Given the description of an element on the screen output the (x, y) to click on. 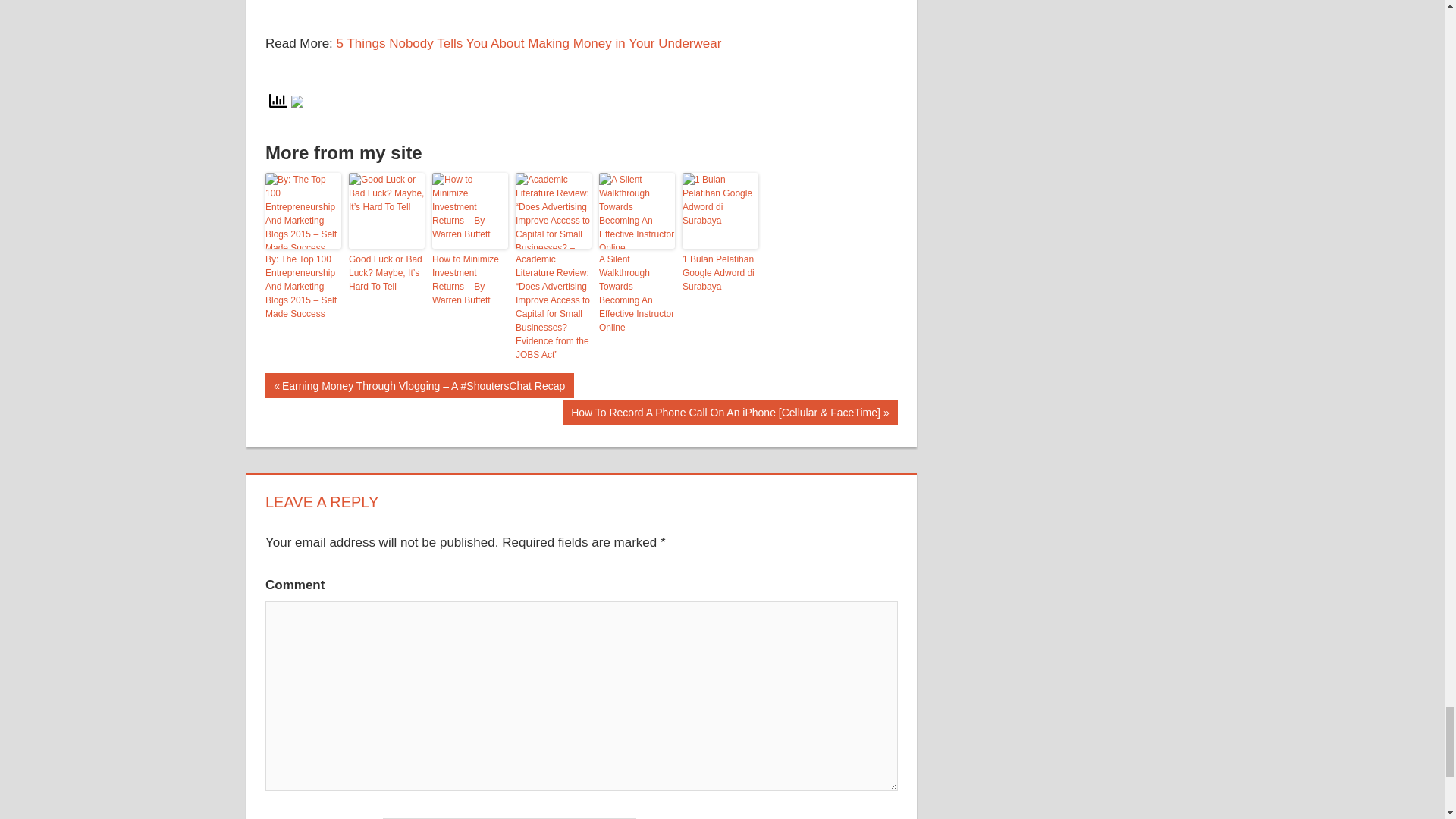
1 Bulan Pelatihan Google Adword di Surabaya (720, 272)
